Given the description of an element on the screen output the (x, y) to click on. 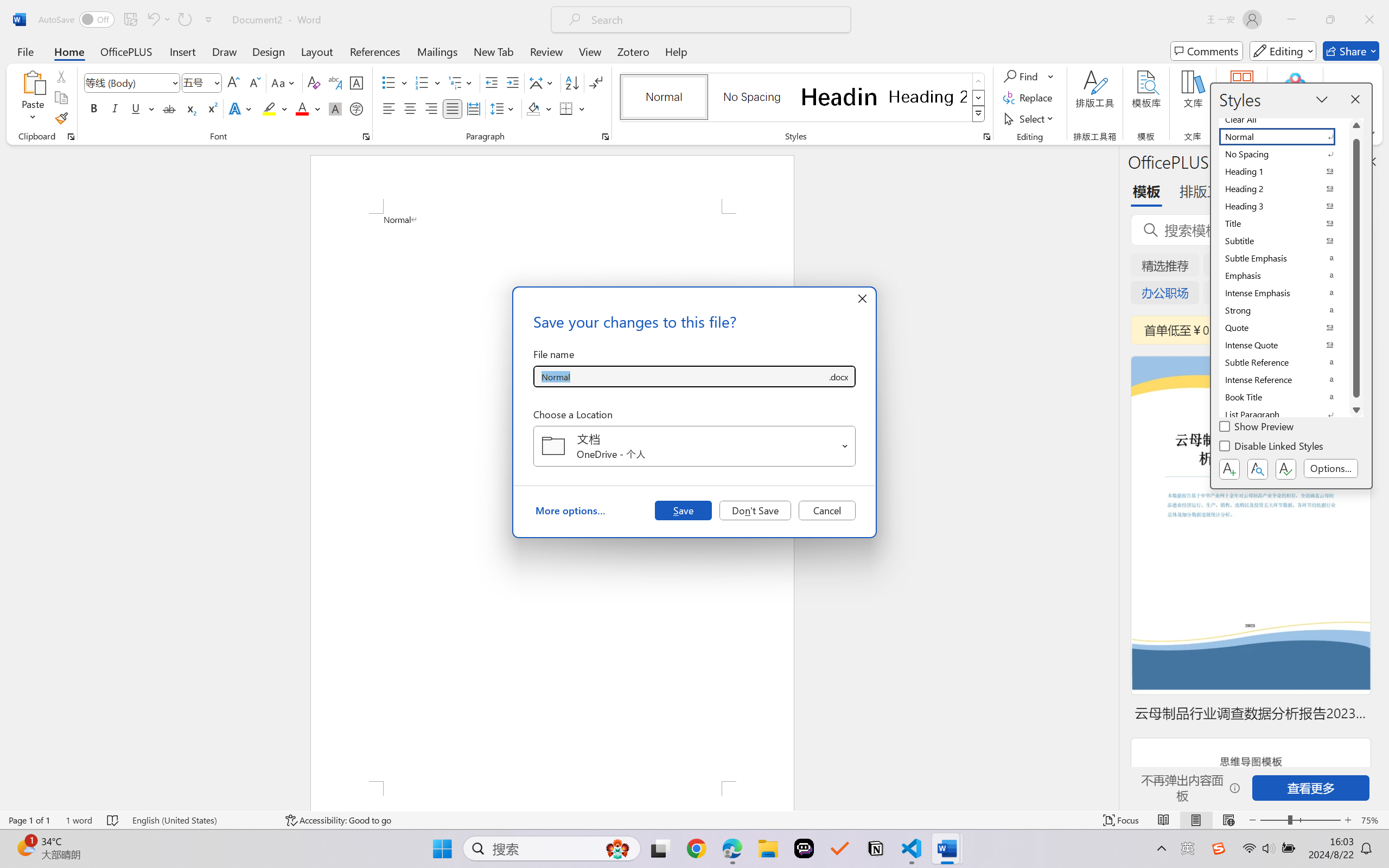
Poe (804, 848)
Quote (1283, 327)
Shading RGB(0, 0, 0) (533, 108)
Disable Linked Styles (1272, 447)
Heading 3 (1283, 206)
File Tab (24, 51)
Home (69, 51)
Microsoft search (715, 19)
Intense Emphasis (1283, 293)
Zoom Out (1273, 819)
